Given the description of an element on the screen output the (x, y) to click on. 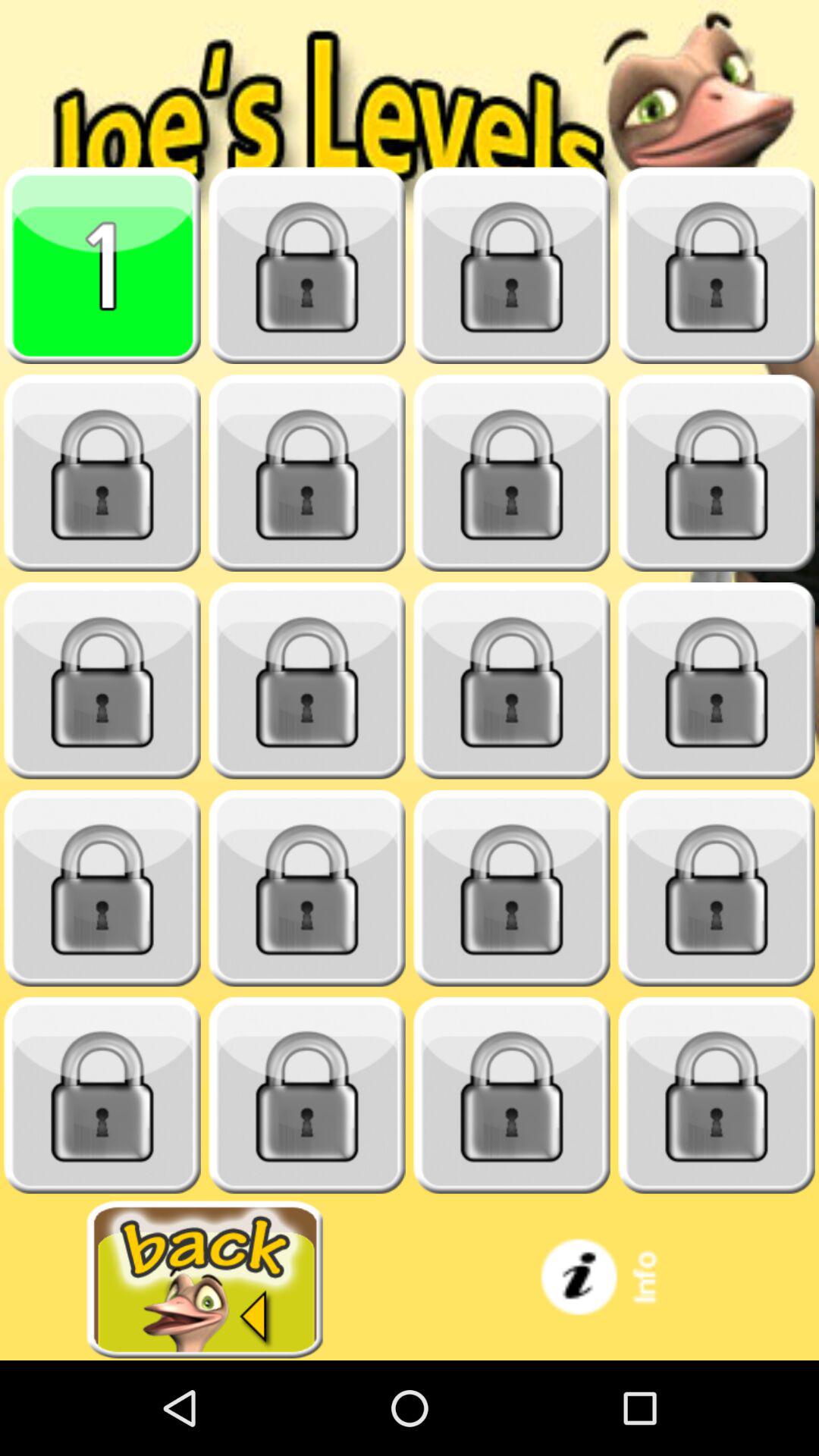
lock option (716, 887)
